Given the description of an element on the screen output the (x, y) to click on. 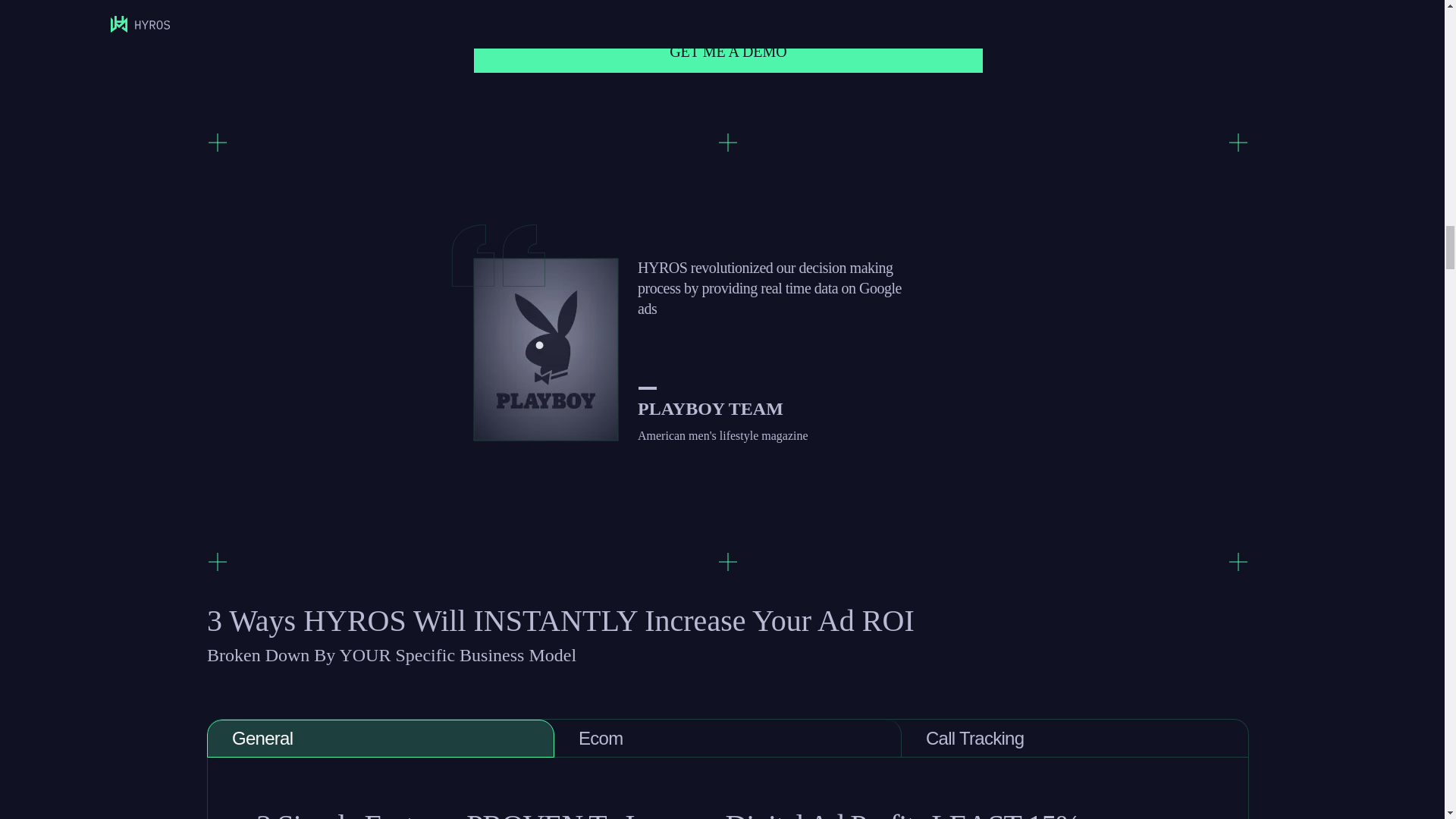
Ecom (727, 738)
GET ME A DEMO (729, 51)
Call Tracking (1075, 738)
General (380, 738)
